Given the description of an element on the screen output the (x, y) to click on. 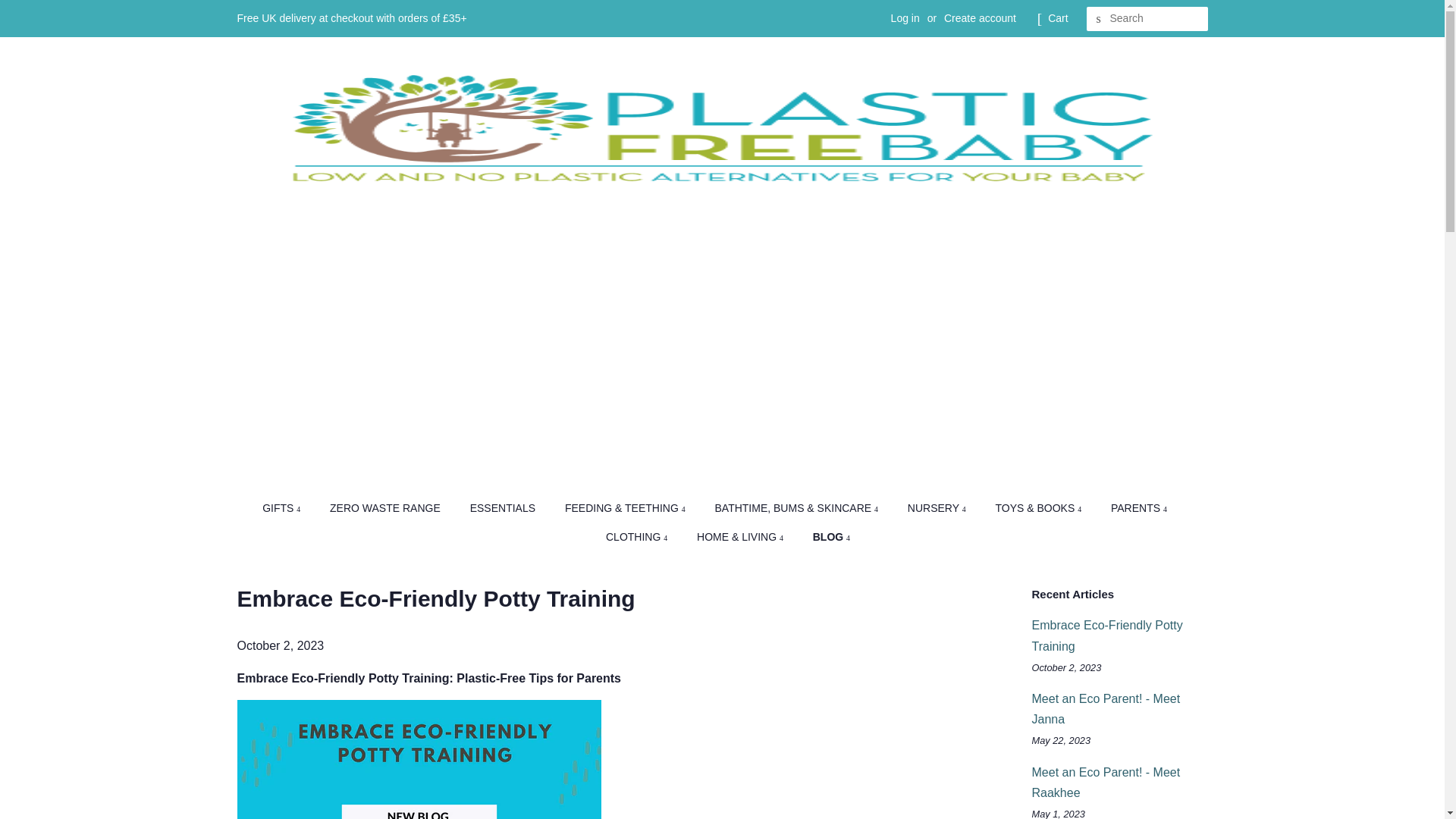
Log in (905, 18)
Cart (1057, 18)
SEARCH (1097, 18)
Create account (979, 18)
